Given the description of an element on the screen output the (x, y) to click on. 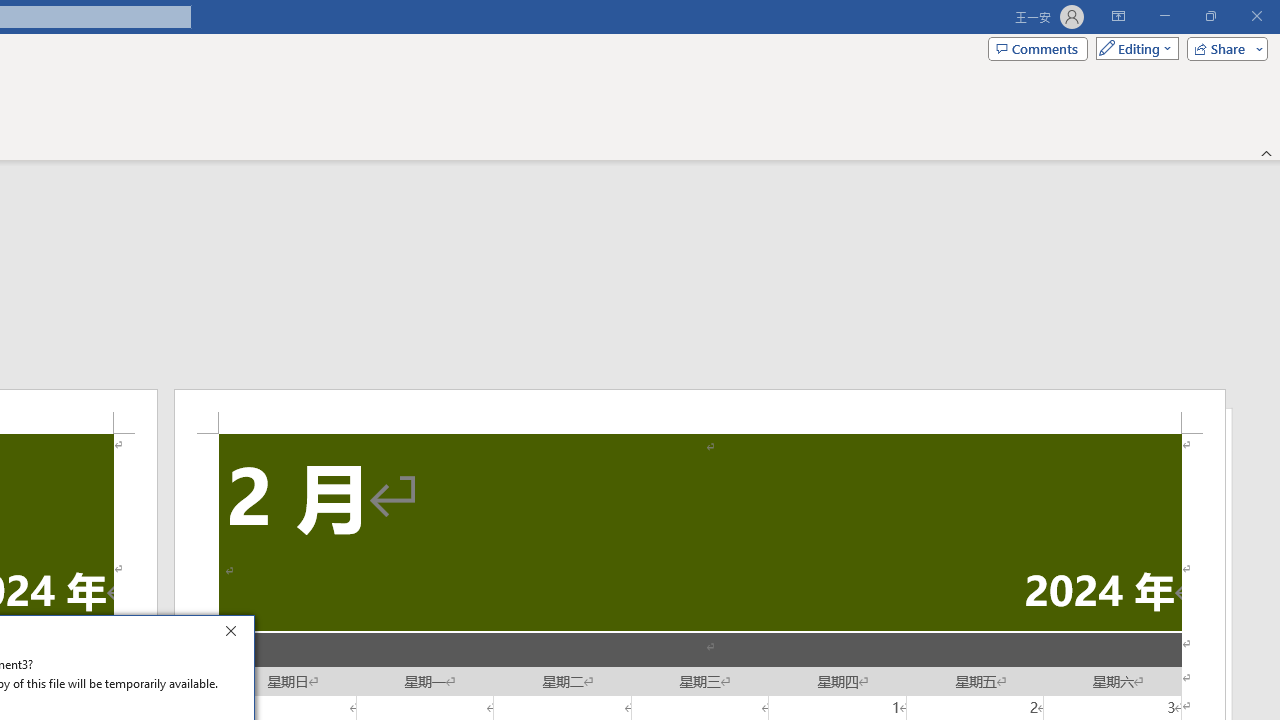
Header -Section 2- (700, 411)
